Given the description of an element on the screen output the (x, y) to click on. 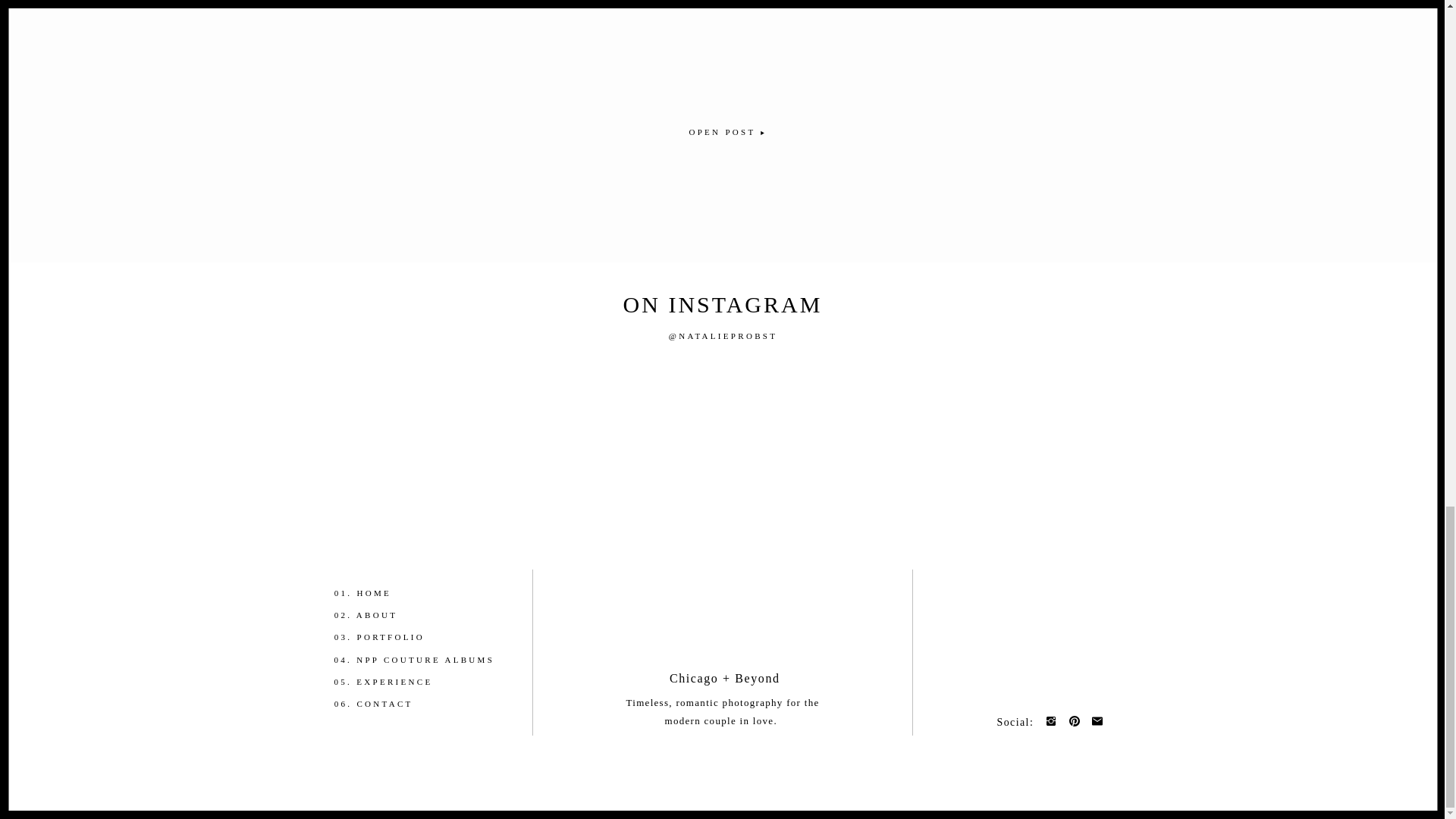
04. NPP COUTURE ALBUMS (419, 659)
ON INSTAGRAM (723, 305)
02. ABOUT (397, 615)
OPEN POST (722, 131)
Classic Michigan Wedding (722, 131)
03. PORTFOLIO (397, 636)
01. HOME (397, 593)
05. EXPERIENCE (395, 681)
Classic Michigan Wedding (722, 44)
